Given the description of an element on the screen output the (x, y) to click on. 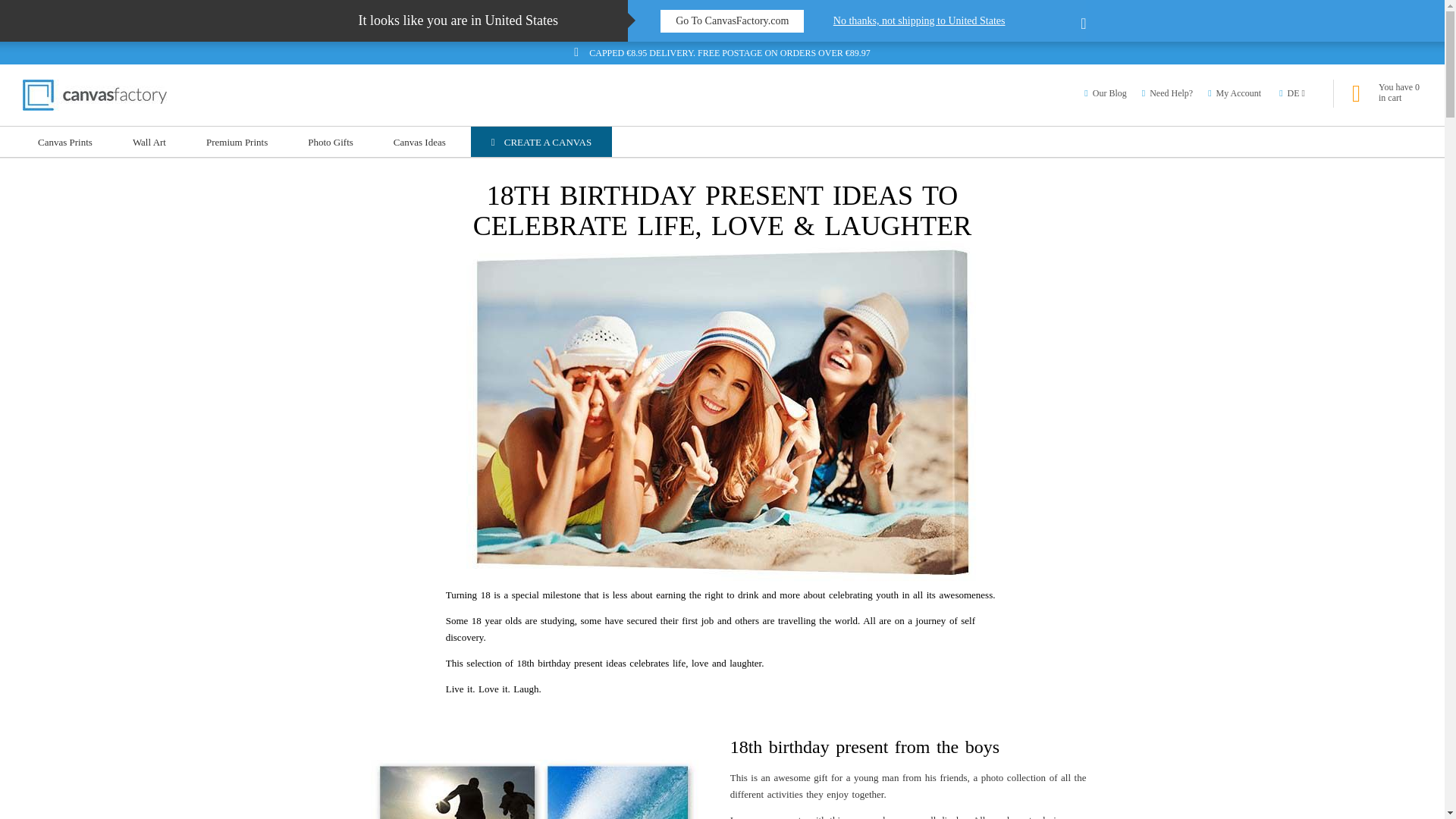
Canvas Prints (65, 141)
Our Blog (1104, 92)
Canvas Prints from the Canvas Factory (95, 94)
Need Help? (1166, 92)
You have 0 in cart (1387, 92)
My Account (1234, 92)
DE (1293, 92)
Wall Art (148, 141)
No thanks, not shipping to United States (959, 21)
Go To CanvasFactory.com (732, 20)
